Given the description of an element on the screen output the (x, y) to click on. 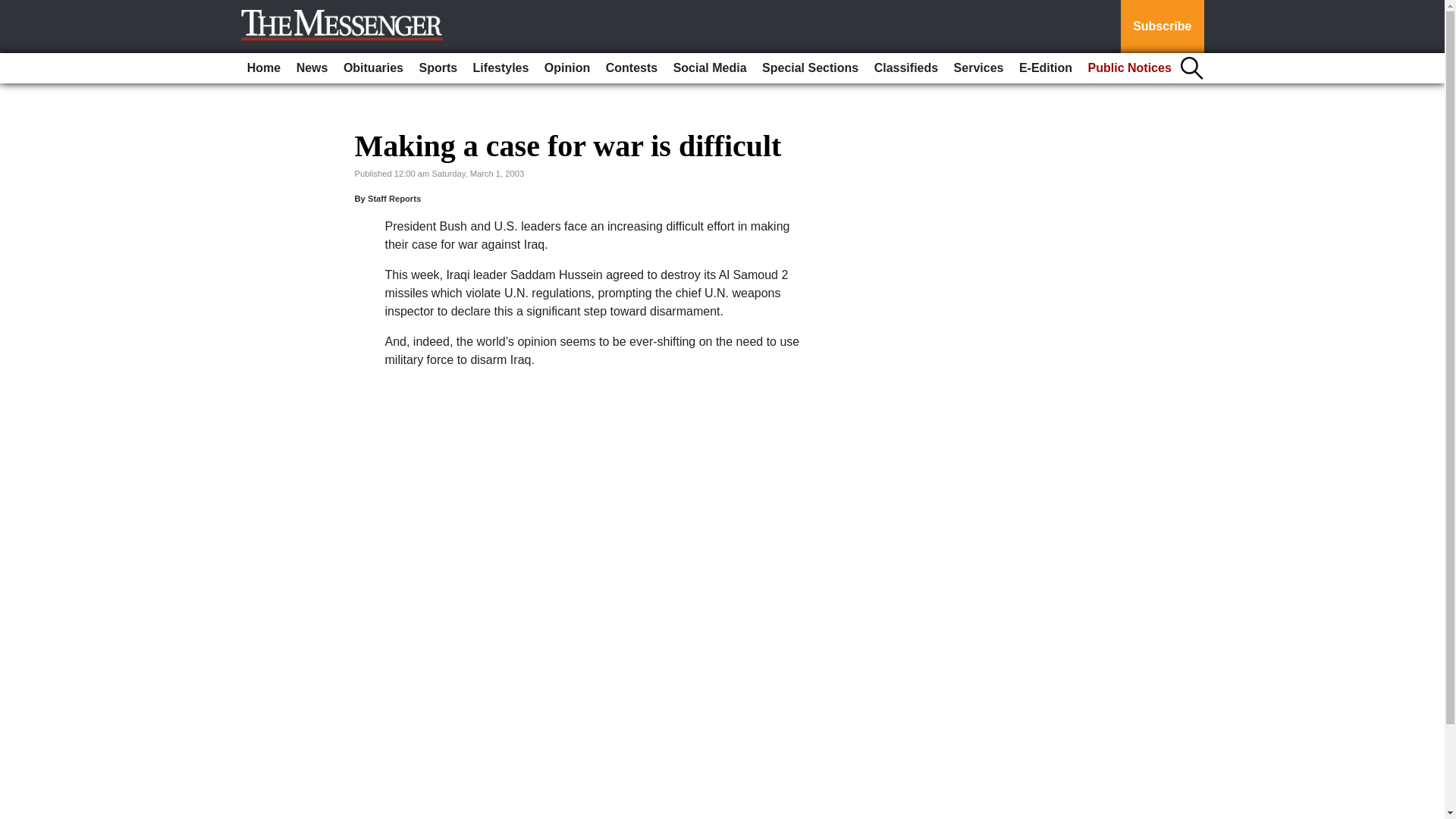
Contests (631, 68)
Sports (437, 68)
Social Media (709, 68)
Lifestyles (501, 68)
Classifieds (905, 68)
Opinion (566, 68)
Obituaries (373, 68)
Special Sections (809, 68)
Home (263, 68)
Services (978, 68)
